Given the description of an element on the screen output the (x, y) to click on. 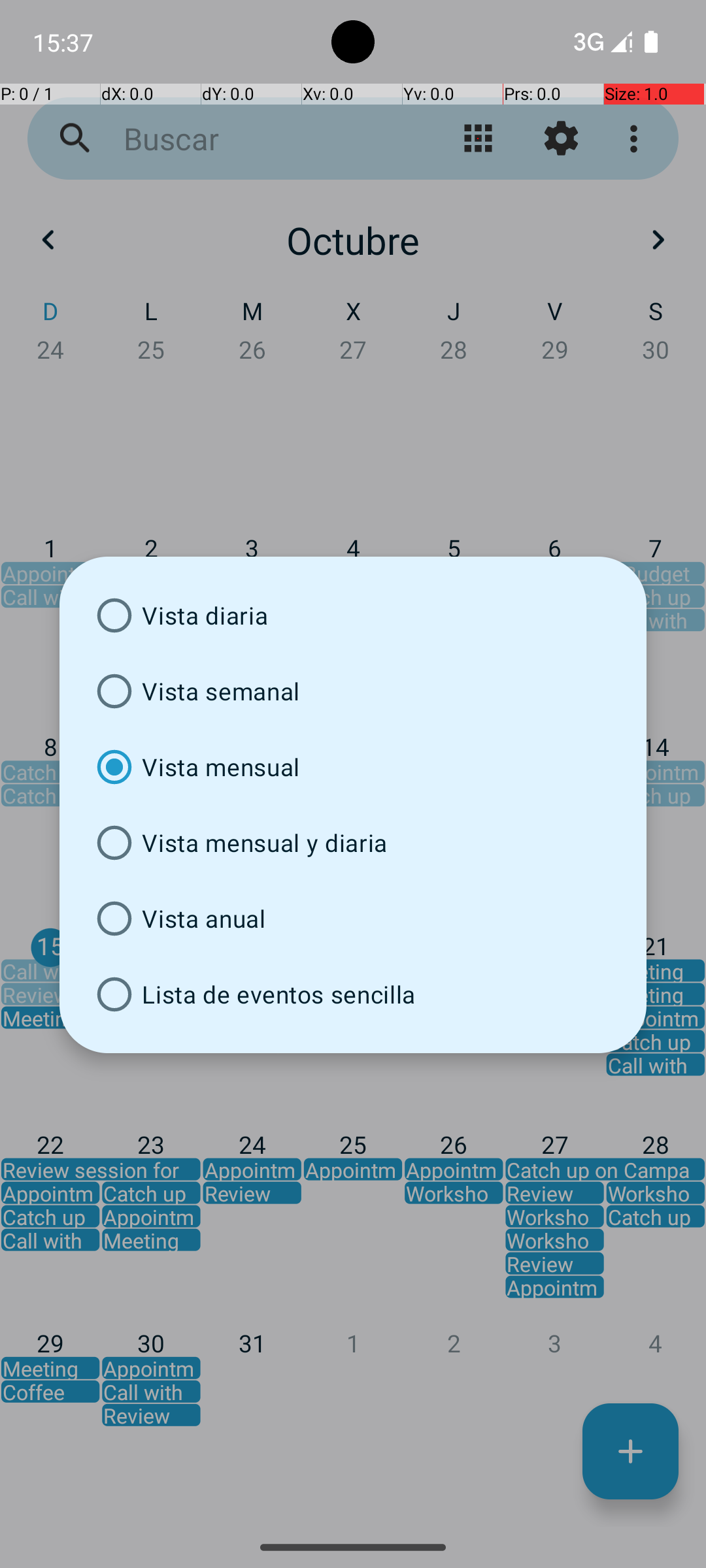
Vista diaria Element type: android.widget.RadioButton (352, 615)
Vista semanal Element type: android.widget.RadioButton (352, 691)
Vista mensual Element type: android.widget.RadioButton (352, 766)
Vista mensual y diaria Element type: android.widget.RadioButton (352, 842)
Vista anual Element type: android.widget.RadioButton (352, 918)
Lista de eventos sencilla Element type: android.widget.RadioButton (352, 994)
15:37 Element type: android.widget.TextView (64, 41)
